Given the description of an element on the screen output the (x, y) to click on. 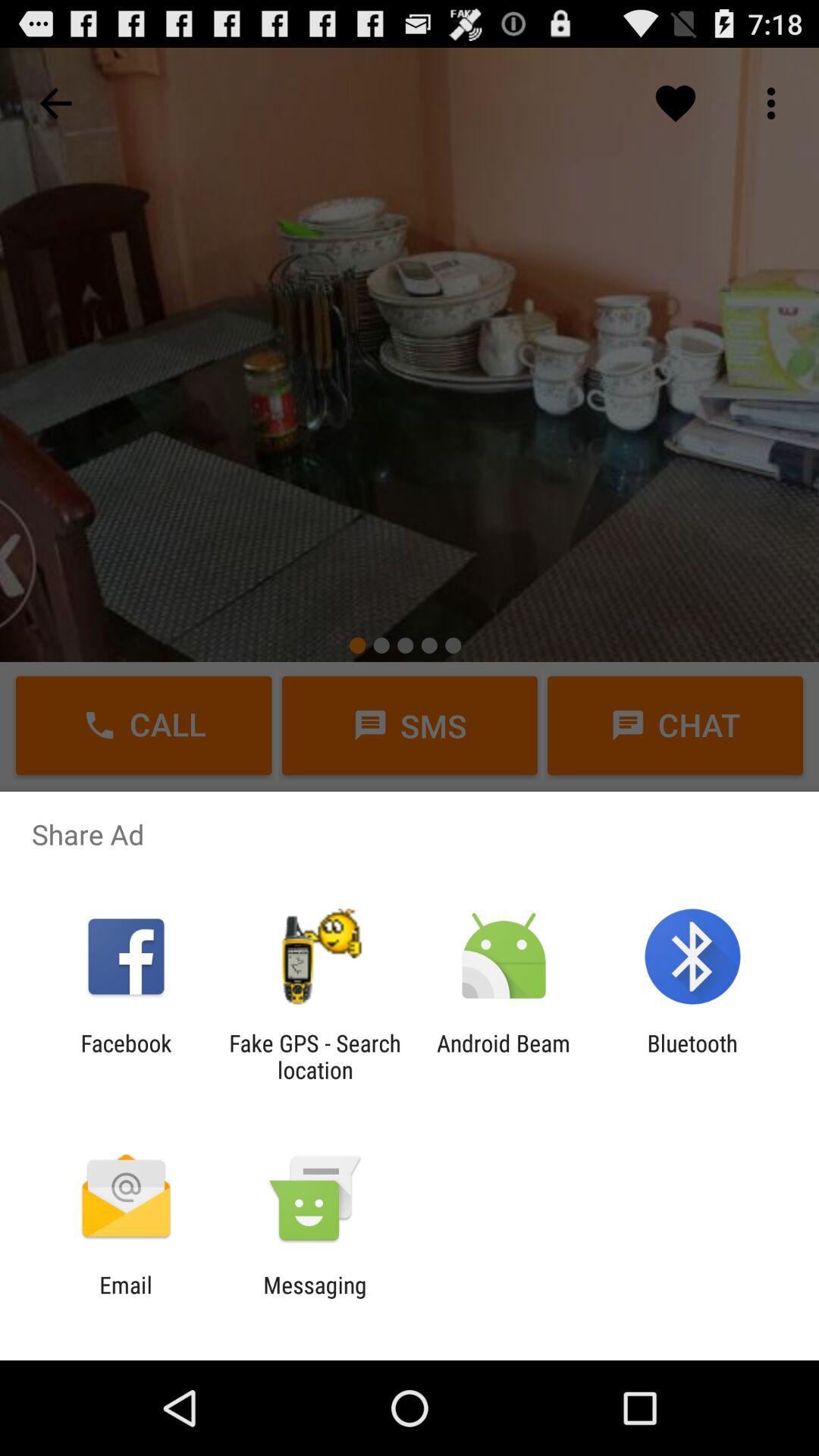
jump to messaging app (314, 1298)
